Given the description of an element on the screen output the (x, y) to click on. 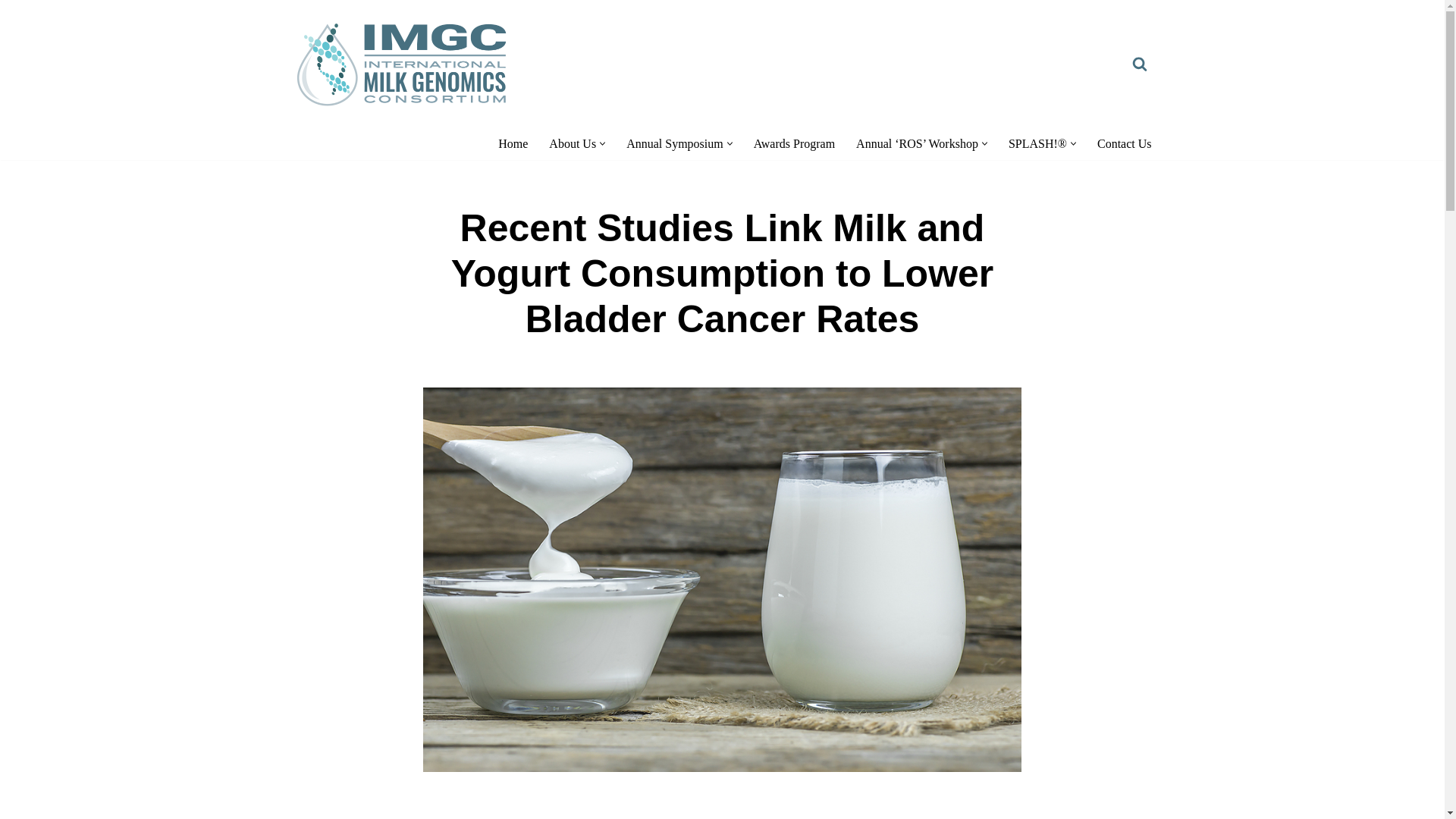
Contact Us (1124, 143)
Skip to content (11, 31)
Awards Program (794, 143)
Home (512, 143)
Annual Symposium (674, 143)
About Us (571, 143)
